Given the description of an element on the screen output the (x, y) to click on. 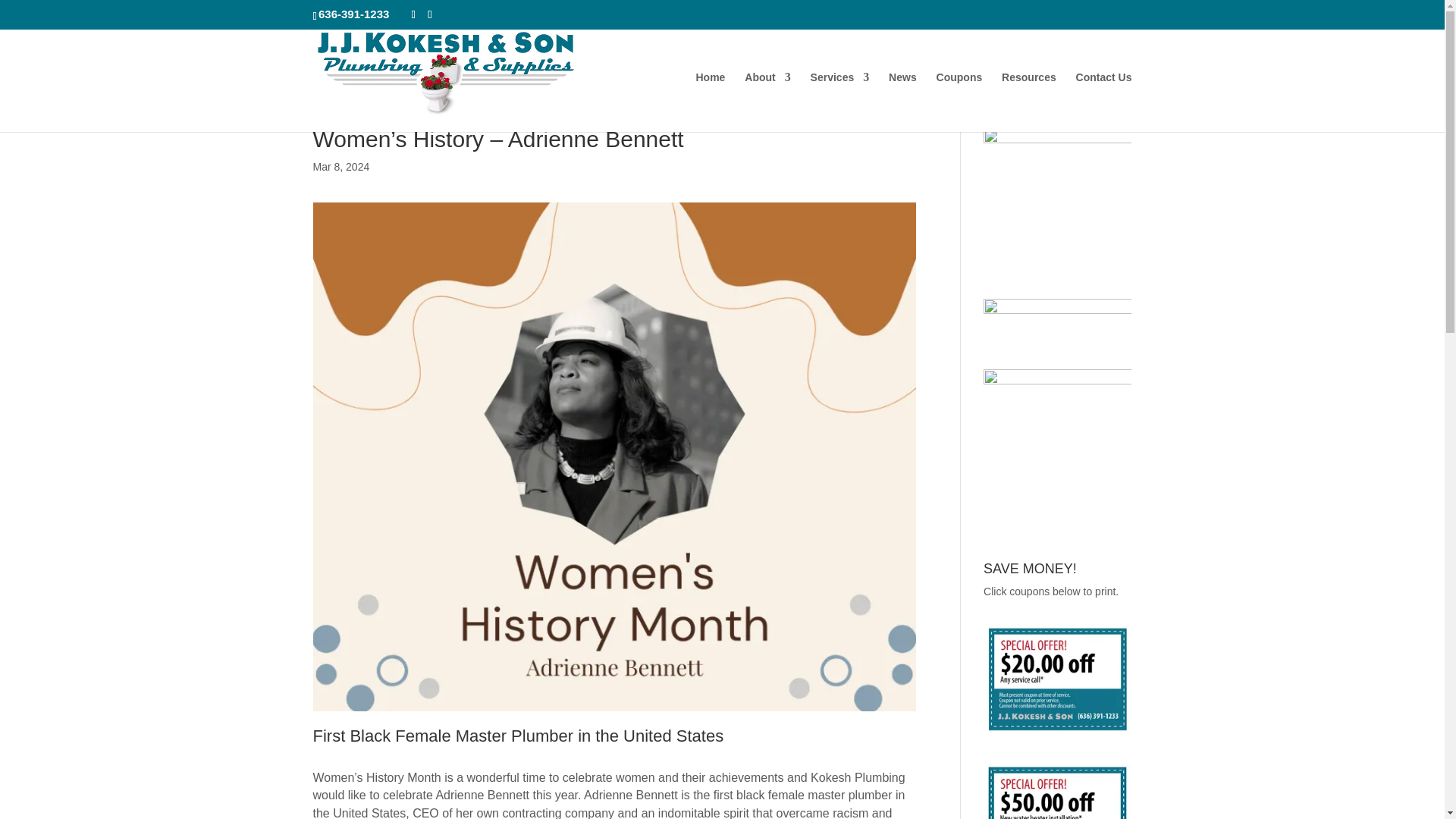
Contact Us (1103, 101)
Services (839, 101)
Resources (1029, 101)
